Given the description of an element on the screen output the (x, y) to click on. 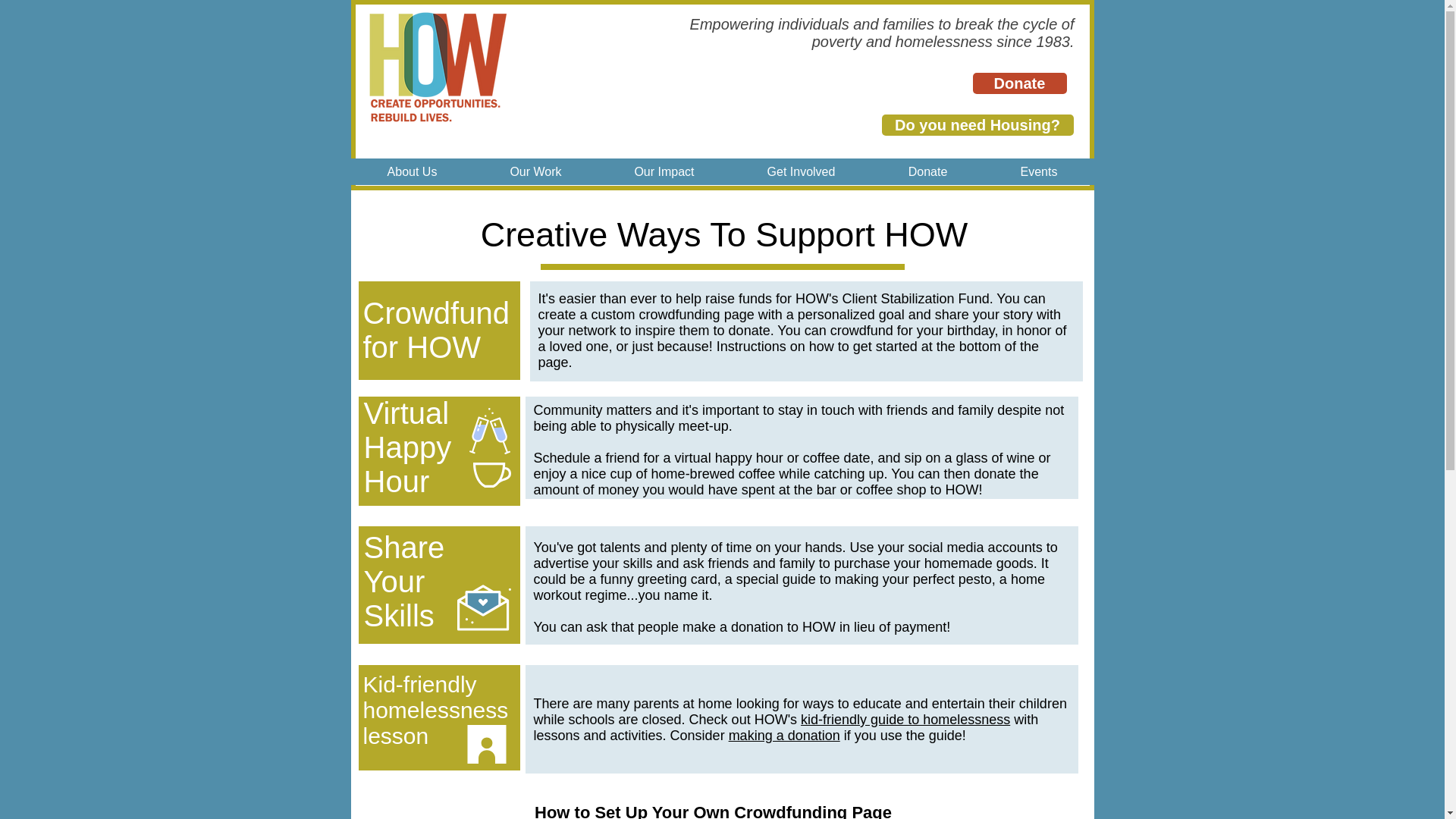
kid-friendly guide to homelessness (905, 719)
making a donation (784, 735)
About Us (411, 171)
Our Work (534, 171)
Donate (1018, 83)
Do you need Housing? (976, 124)
Our Impact (663, 171)
Get Involved (801, 171)
